Given the description of an element on the screen output the (x, y) to click on. 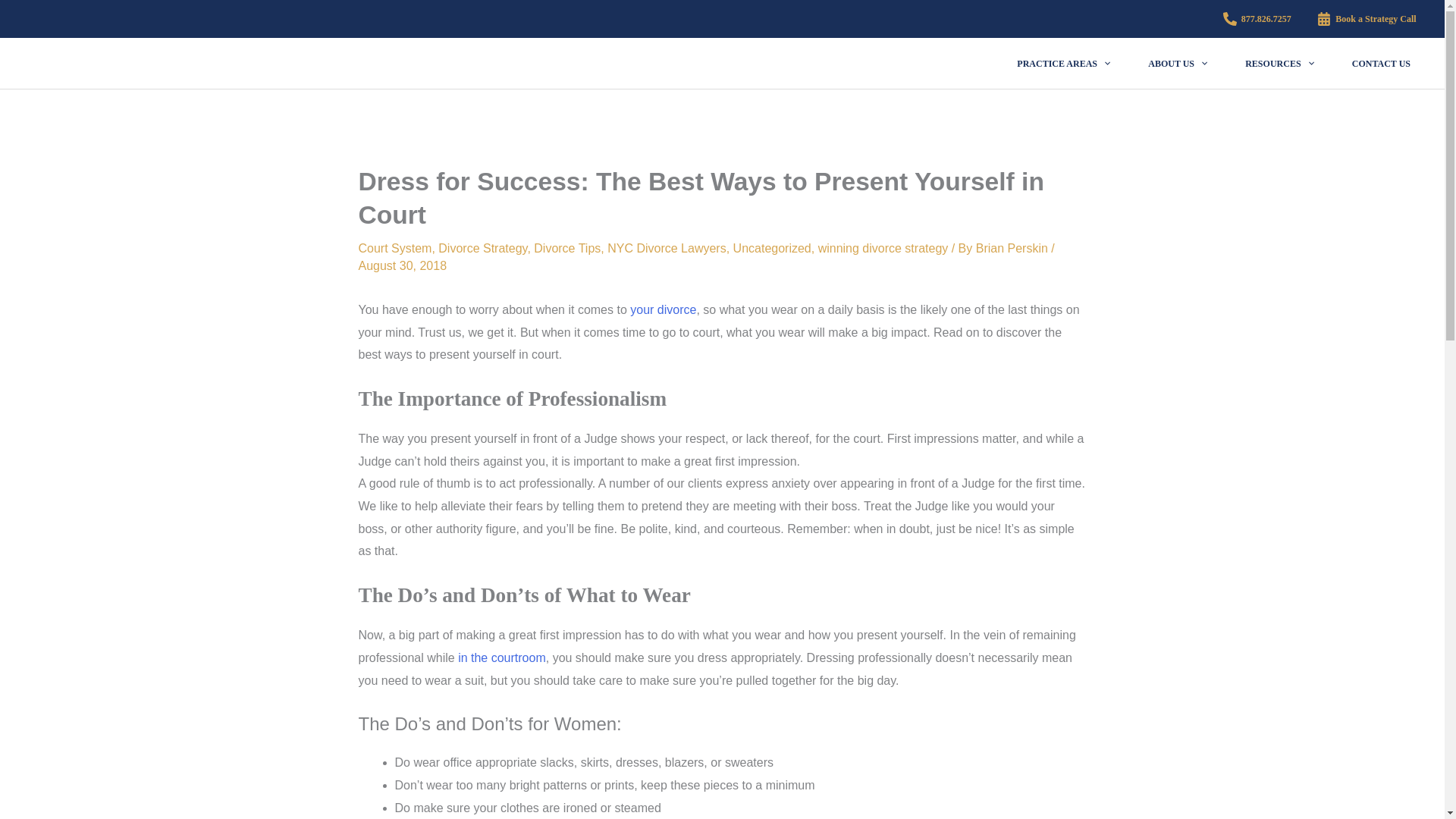
CONTACT US (1381, 63)
View all posts by Brian Perskin (1013, 247)
RESOURCES (1279, 63)
PRACTICE AREAS (1063, 63)
877.826.7257 (1257, 18)
ABOUT US (1177, 63)
Book a Strategy Call (1367, 18)
